Given the description of an element on the screen output the (x, y) to click on. 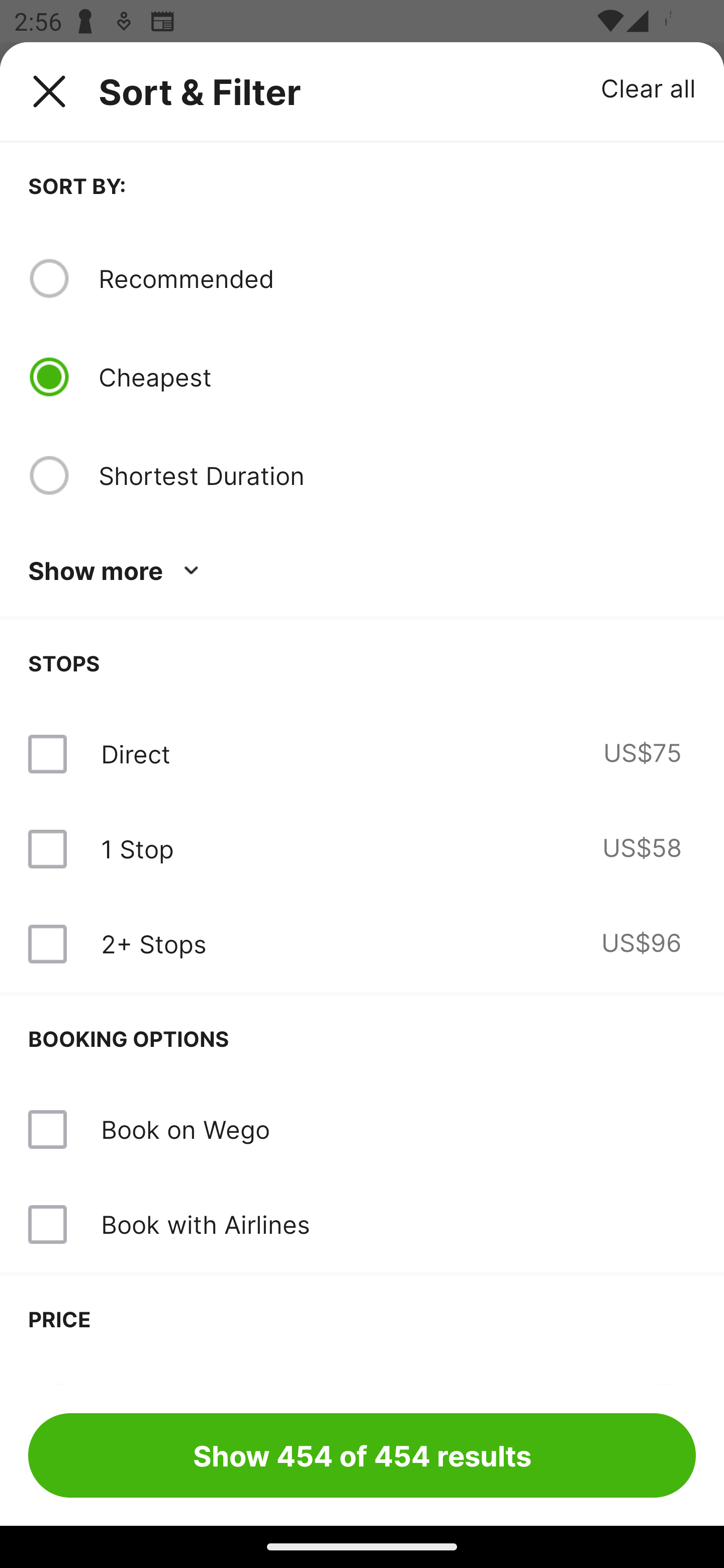
Clear all (648, 87)
Recommended  (396, 278)
Cheapest (396, 377)
Shortest Duration (396, 474)
Show more (116, 570)
Direct US$75 (362, 754)
Direct (135, 753)
1 Stop US$58 (362, 848)
1 Stop (136, 849)
2+ Stops US$96 (362, 943)
2+ Stops (153, 943)
Book on Wego (362, 1129)
Book on Wego (184, 1128)
Book with Airlines (362, 1224)
Book with Airlines (204, 1224)
Show 454 of 454 results (361, 1454)
